Given the description of an element on the screen output the (x, y) to click on. 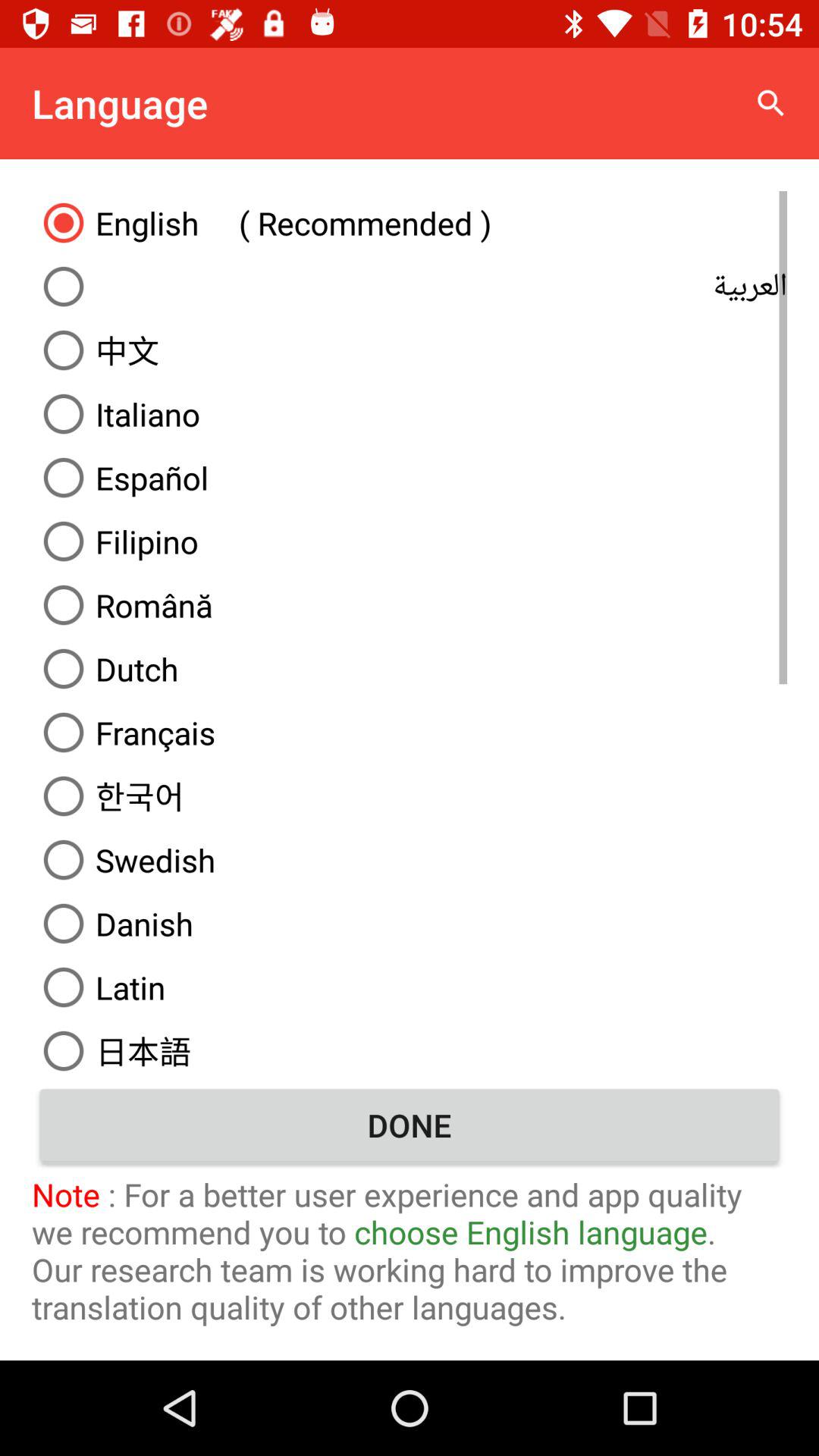
scroll to dutch (409, 668)
